Given the description of an element on the screen output the (x, y) to click on. 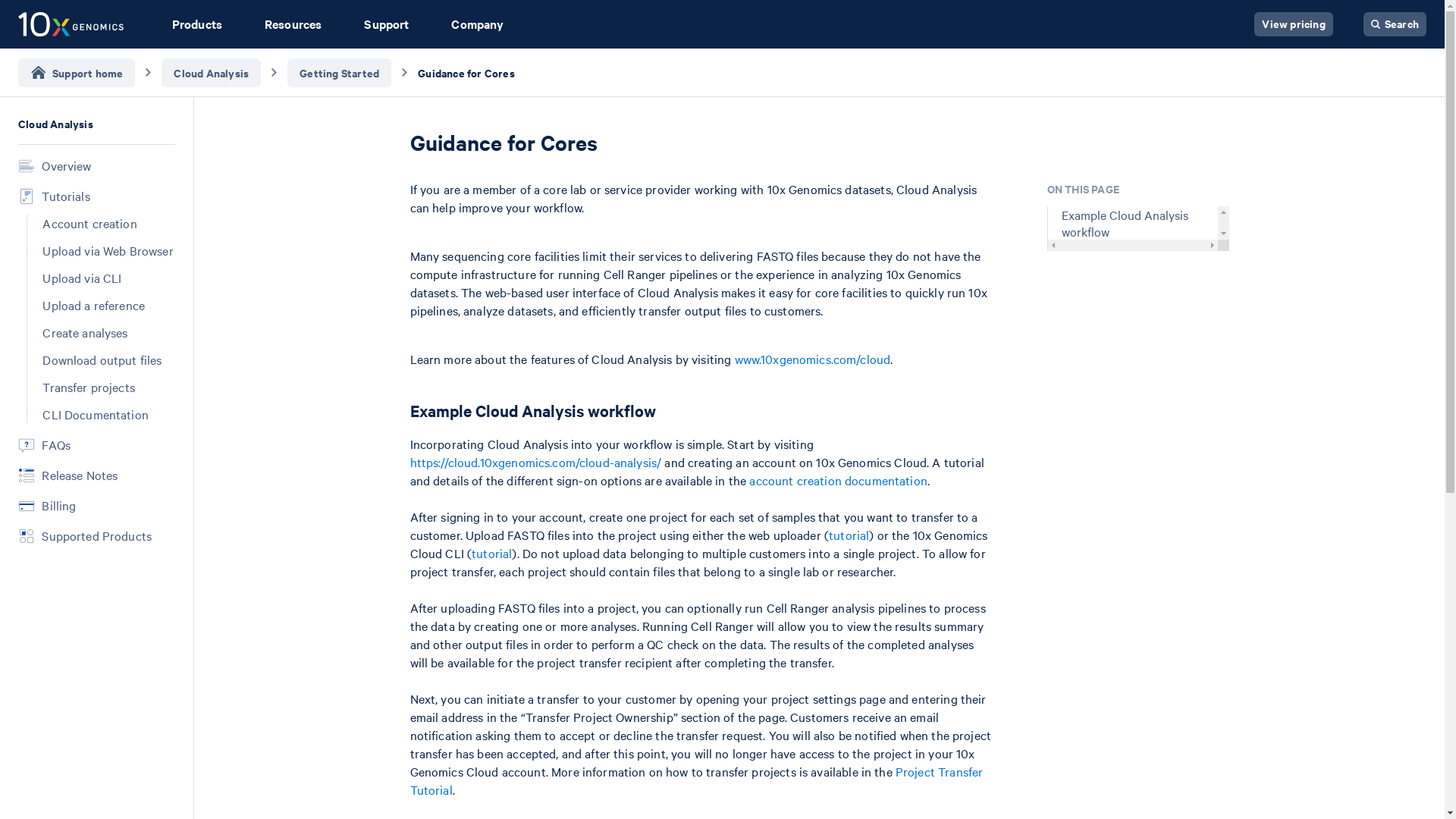
Tutorials (95, 196)
Download output files (108, 360)
Transfer projects (108, 387)
tutorial (491, 552)
Project Transfer Tutorial (695, 779)
Account creation (108, 223)
Upload via CLI (108, 278)
View pricing (1292, 24)
Cloud Analysis (95, 123)
tutorial (848, 534)
